Given the description of an element on the screen output the (x, y) to click on. 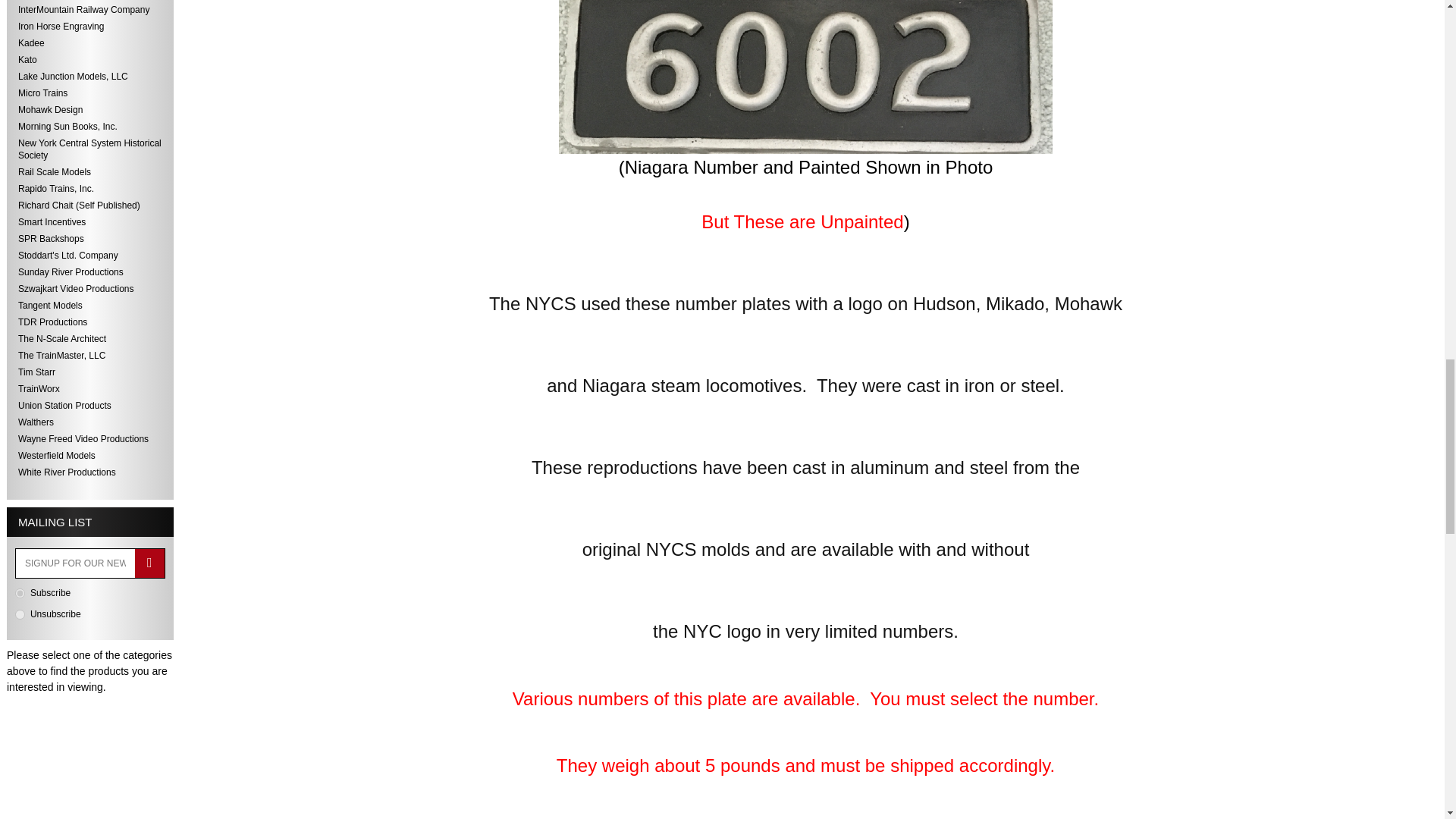
1 (19, 593)
0 (19, 614)
